Given the description of an element on the screen output the (x, y) to click on. 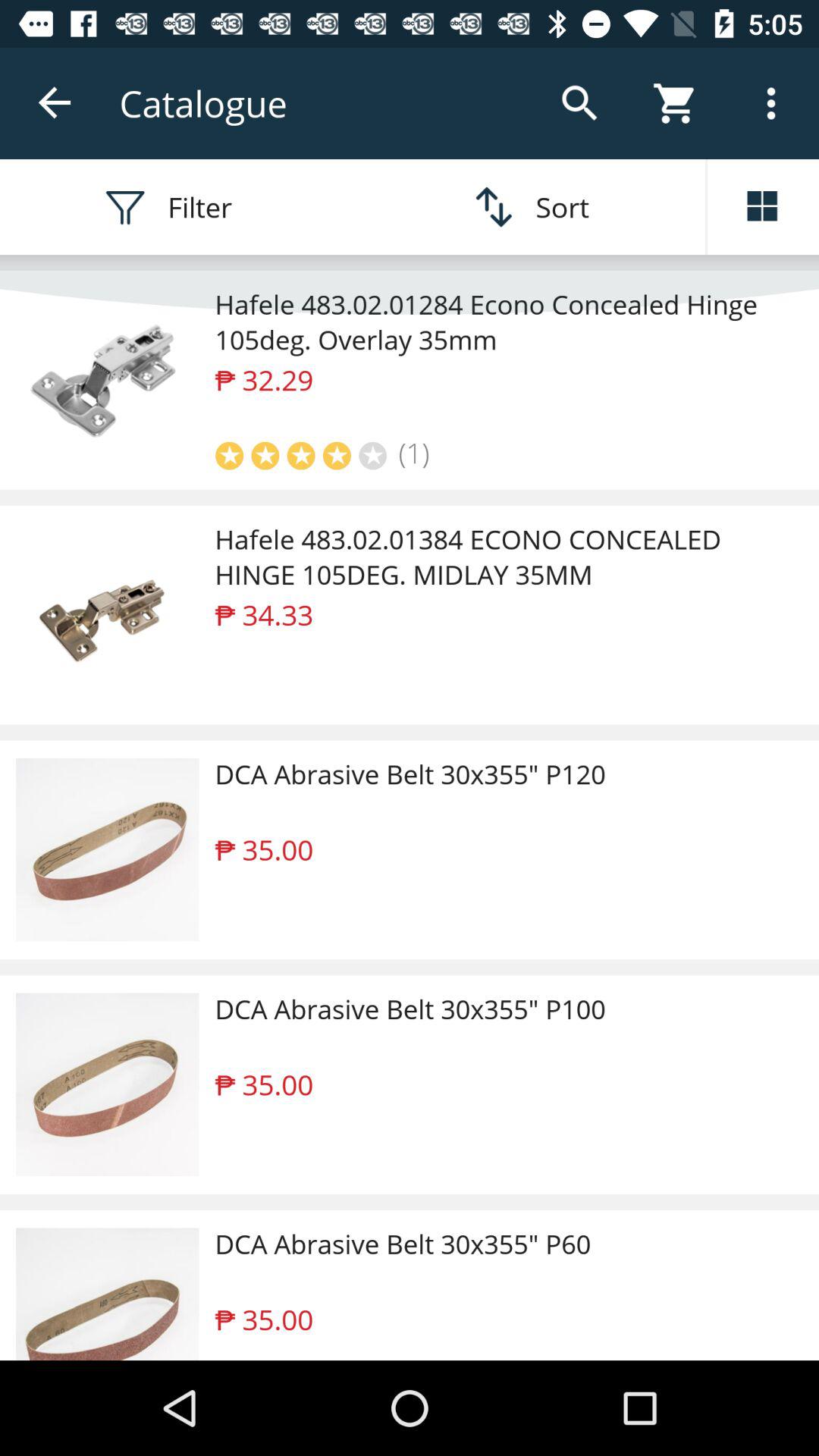
change view (763, 206)
